Given the description of an element on the screen output the (x, y) to click on. 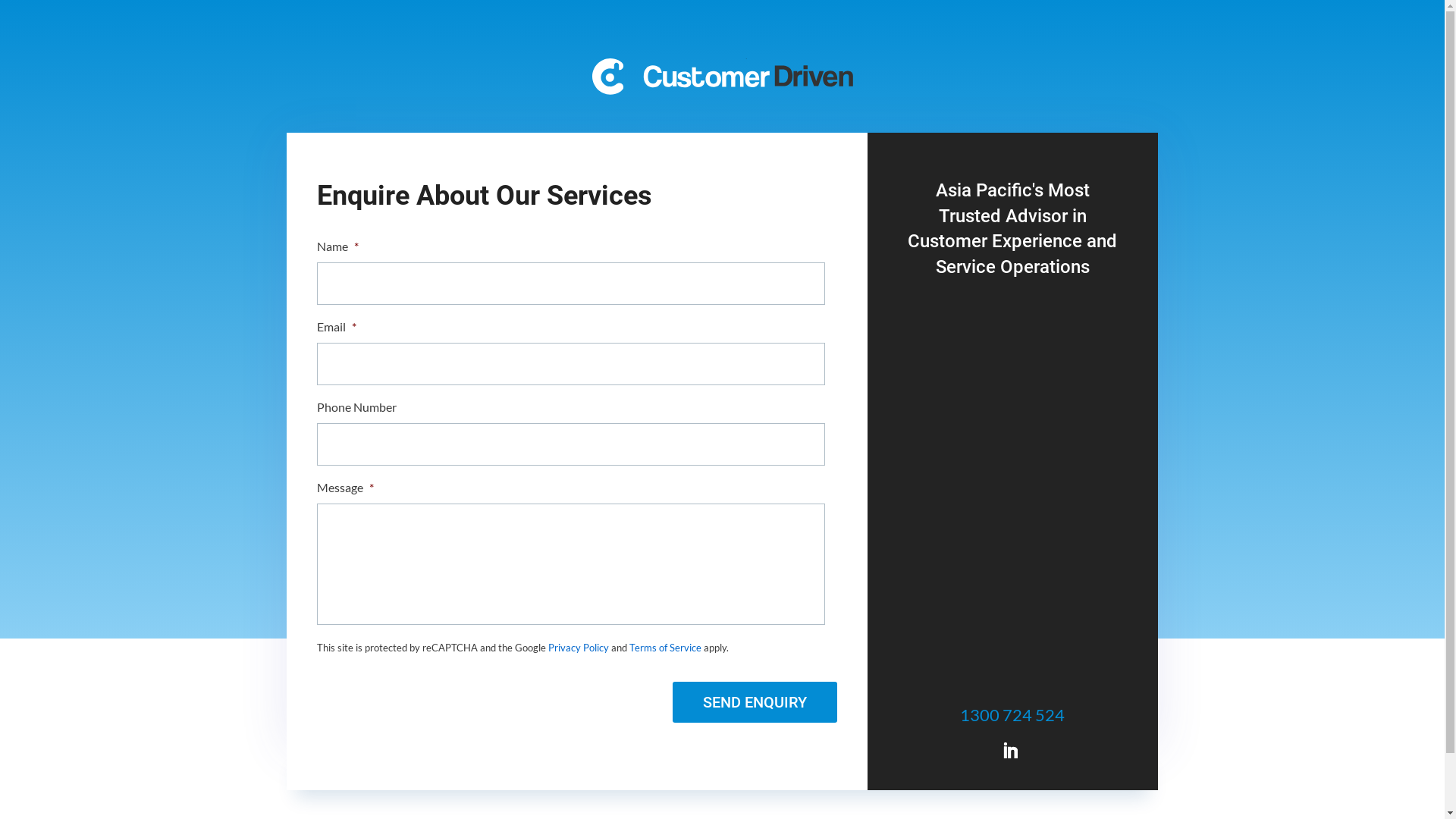
Terms of Service Element type: text (665, 647)
Privacy Policy Element type: text (578, 647)
Customer Driven Contact Element type: hover (721, 76)
Follow on LinkedIn Element type: hover (1009, 750)
SEND ENQUIRY Element type: text (754, 701)
1300 724 524 Element type: text (1012, 714)
